Given the description of an element on the screen output the (x, y) to click on. 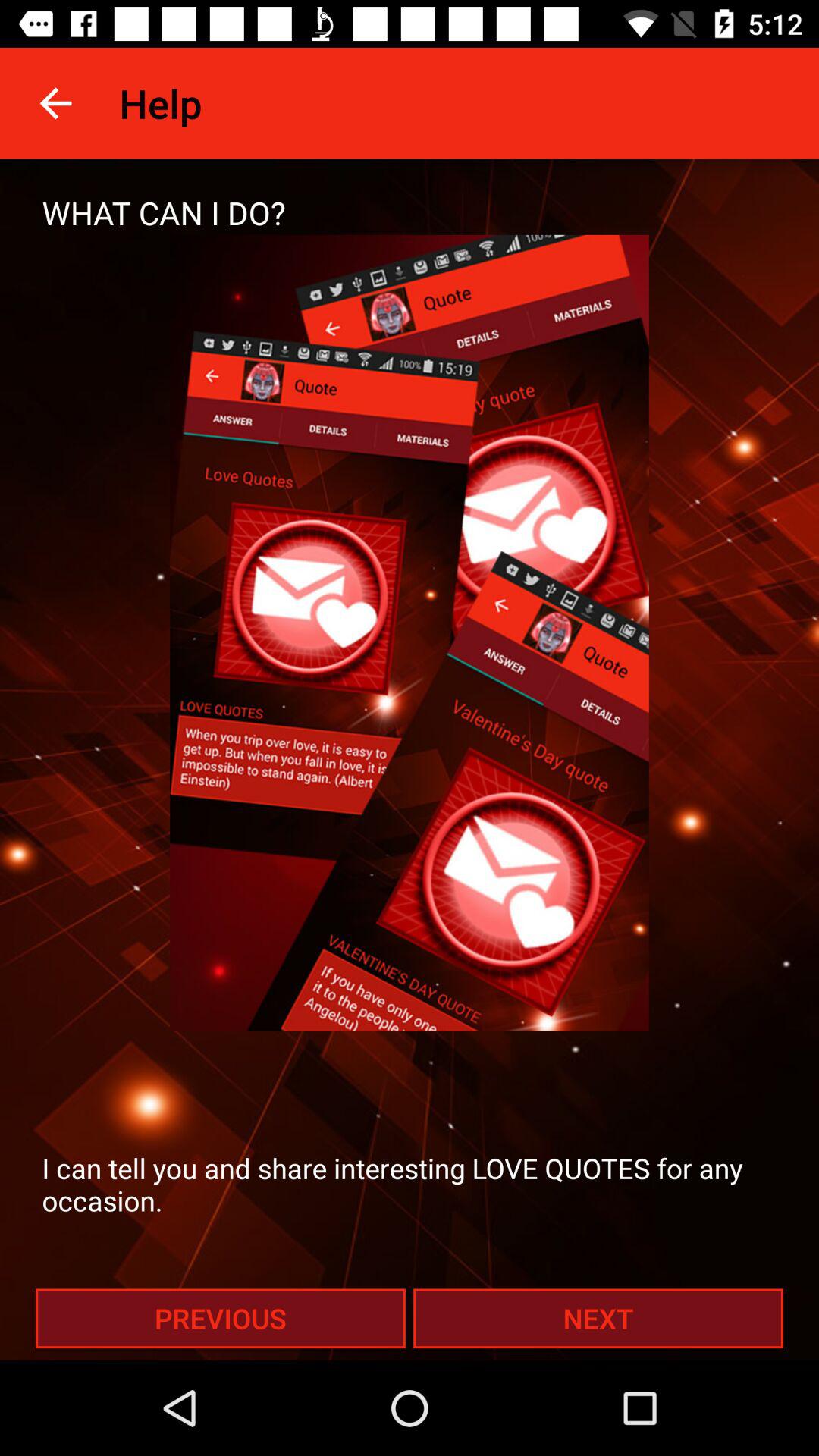
scroll until next icon (598, 1318)
